Given the description of an element on the screen output the (x, y) to click on. 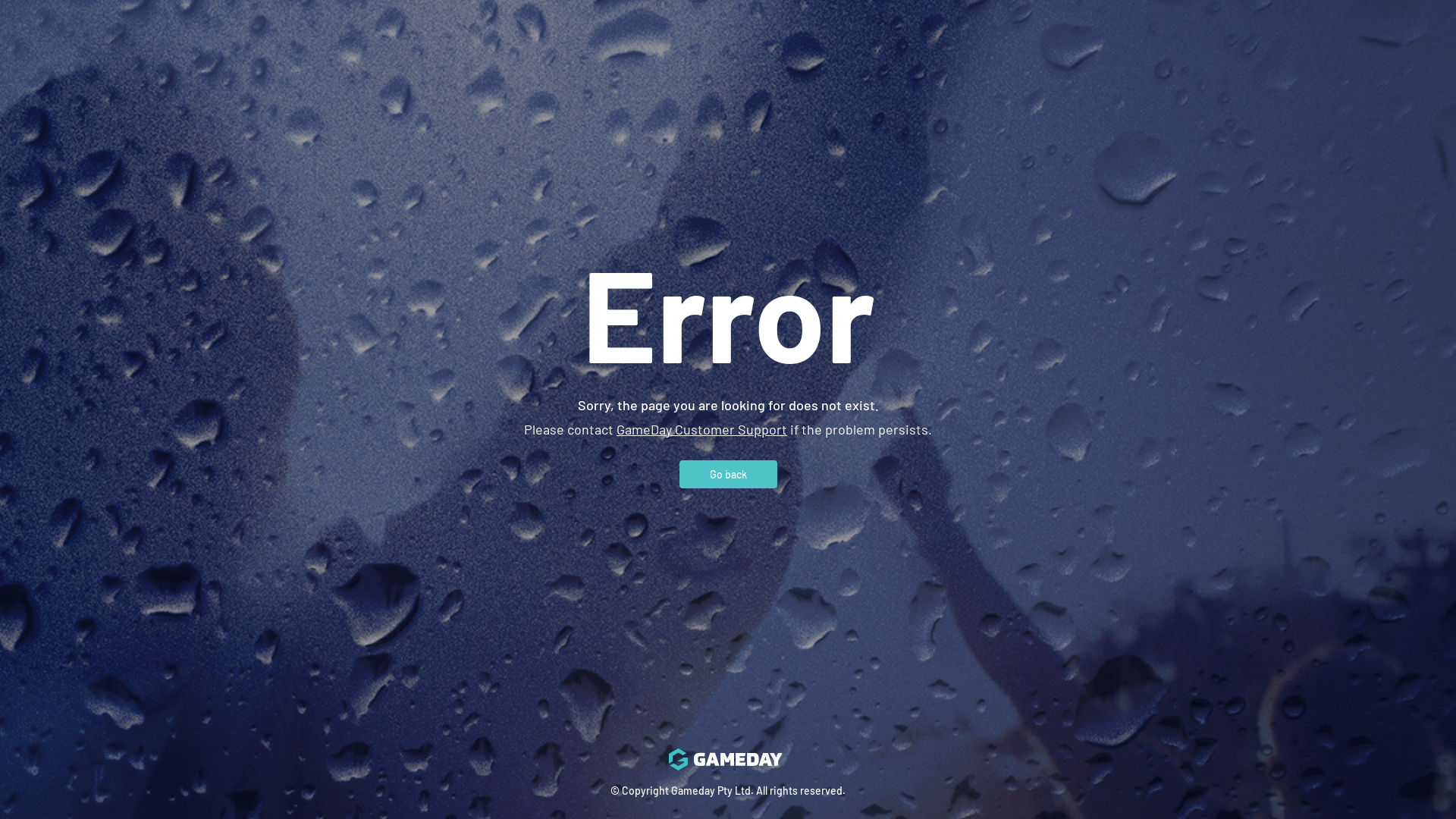
Go back Element type: text (728, 473)
GameDay Customer Support Element type: text (701, 428)
